Given the description of an element on the screen output the (x, y) to click on. 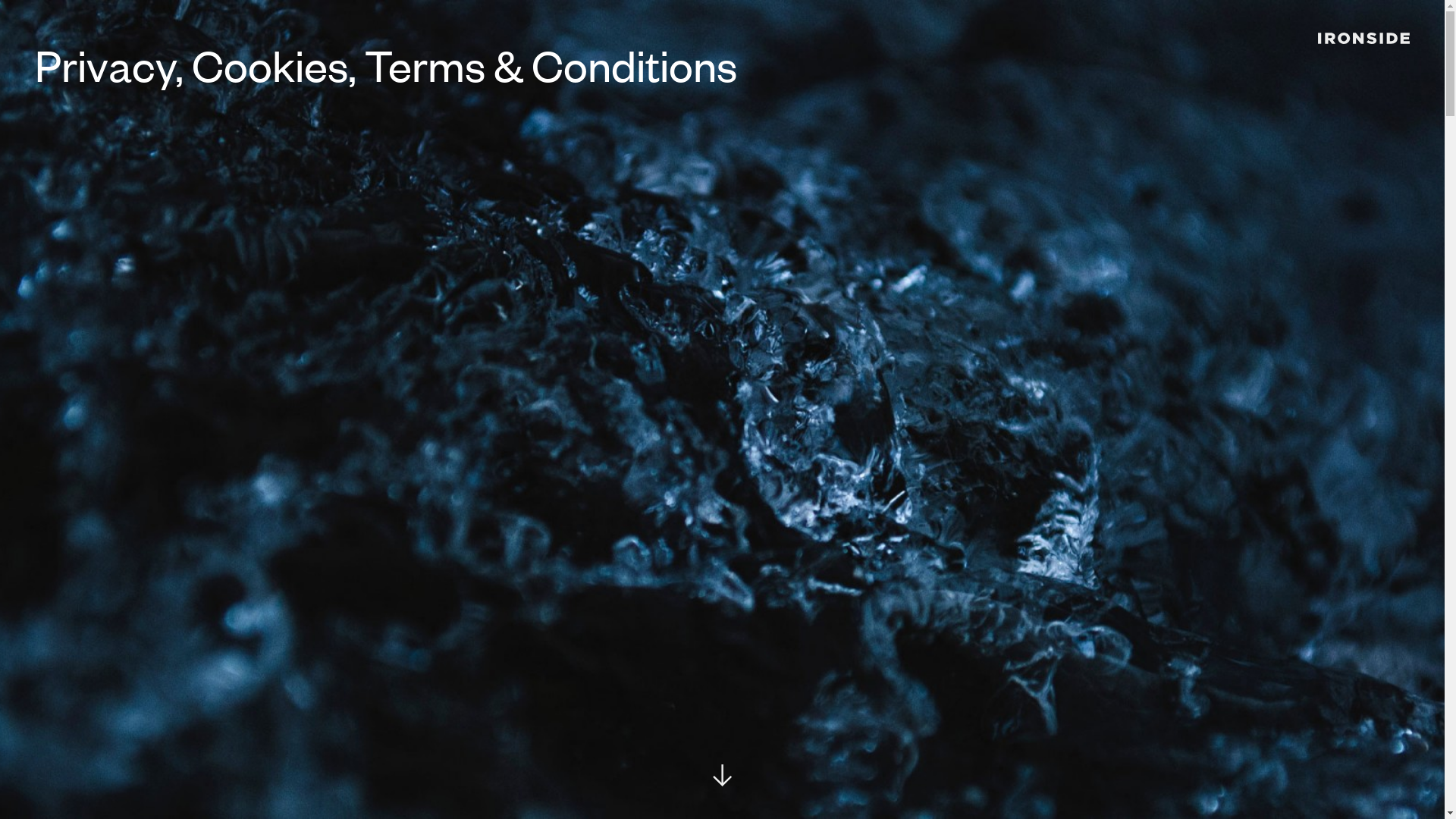
Privacy Element type: text (62, 758)
Subscribe Element type: text (1348, 598)
info@ironside.com.au Element type: text (108, 530)
Instagram Element type: text (317, 758)
LinkedIn Element type: text (185, 758)
